Given the description of an element on the screen output the (x, y) to click on. 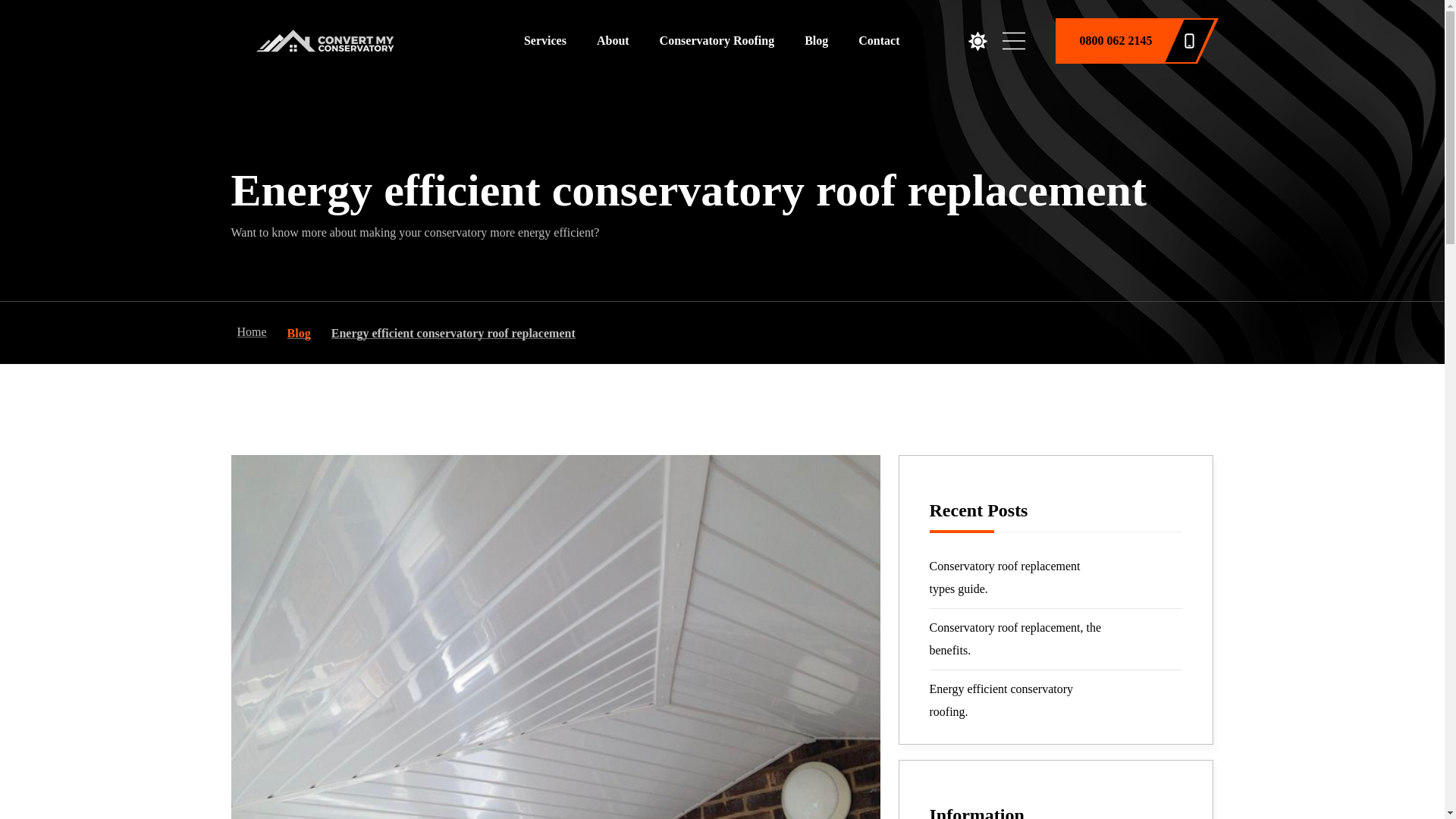
Contact (879, 40)
Services (545, 40)
Blog (816, 40)
0800 062 2145 (1125, 40)
About (612, 40)
Conservatory Roofing (716, 40)
